Given the description of an element on the screen output the (x, y) to click on. 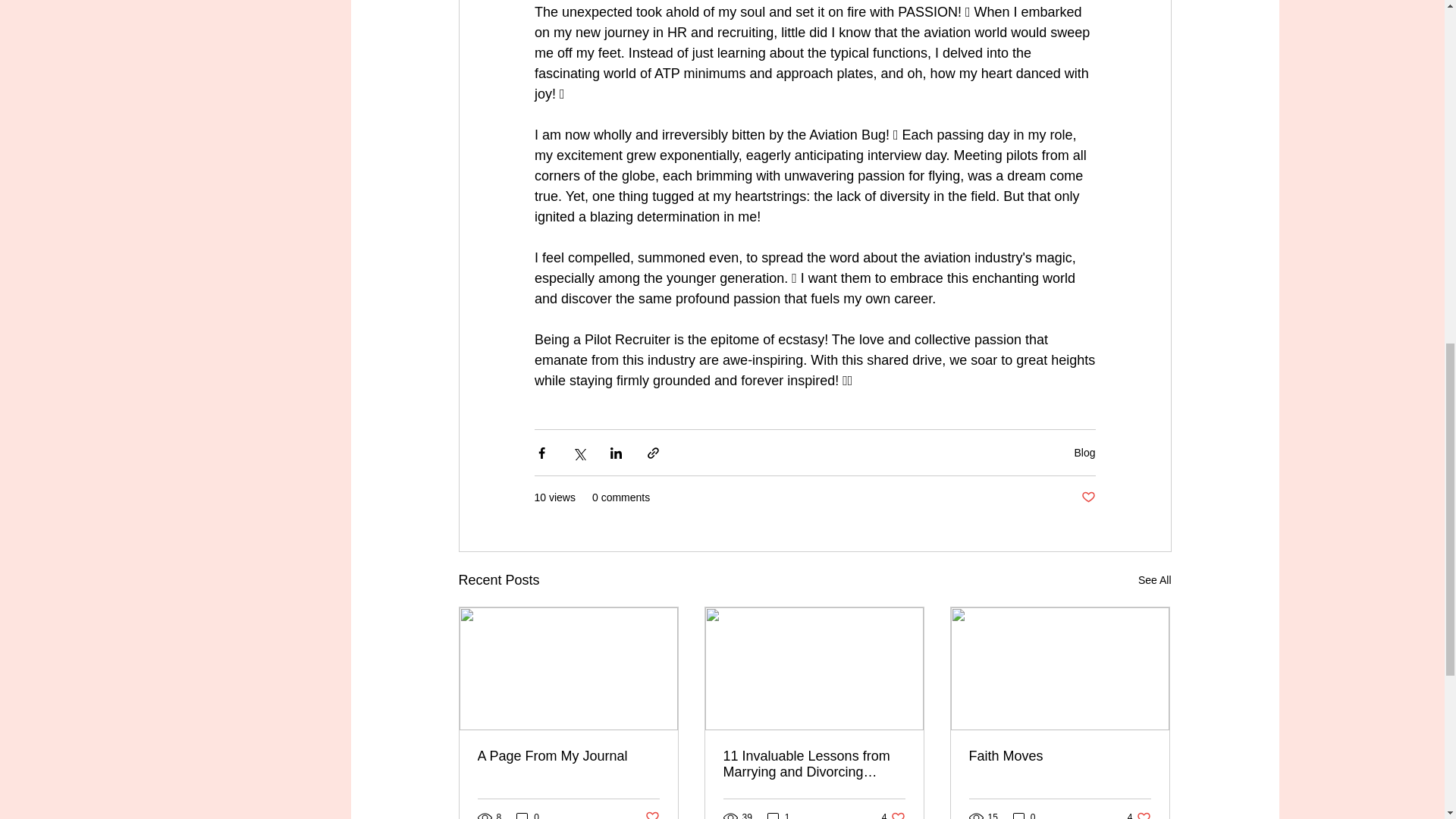
0 (1023, 814)
0 (527, 814)
Blog (1084, 451)
See All (1155, 580)
1 (893, 814)
Post not marked as liked (778, 814)
A Page From My Journal (1138, 814)
Faith Moves (652, 814)
Post not marked as liked (568, 756)
